Given the description of an element on the screen output the (x, y) to click on. 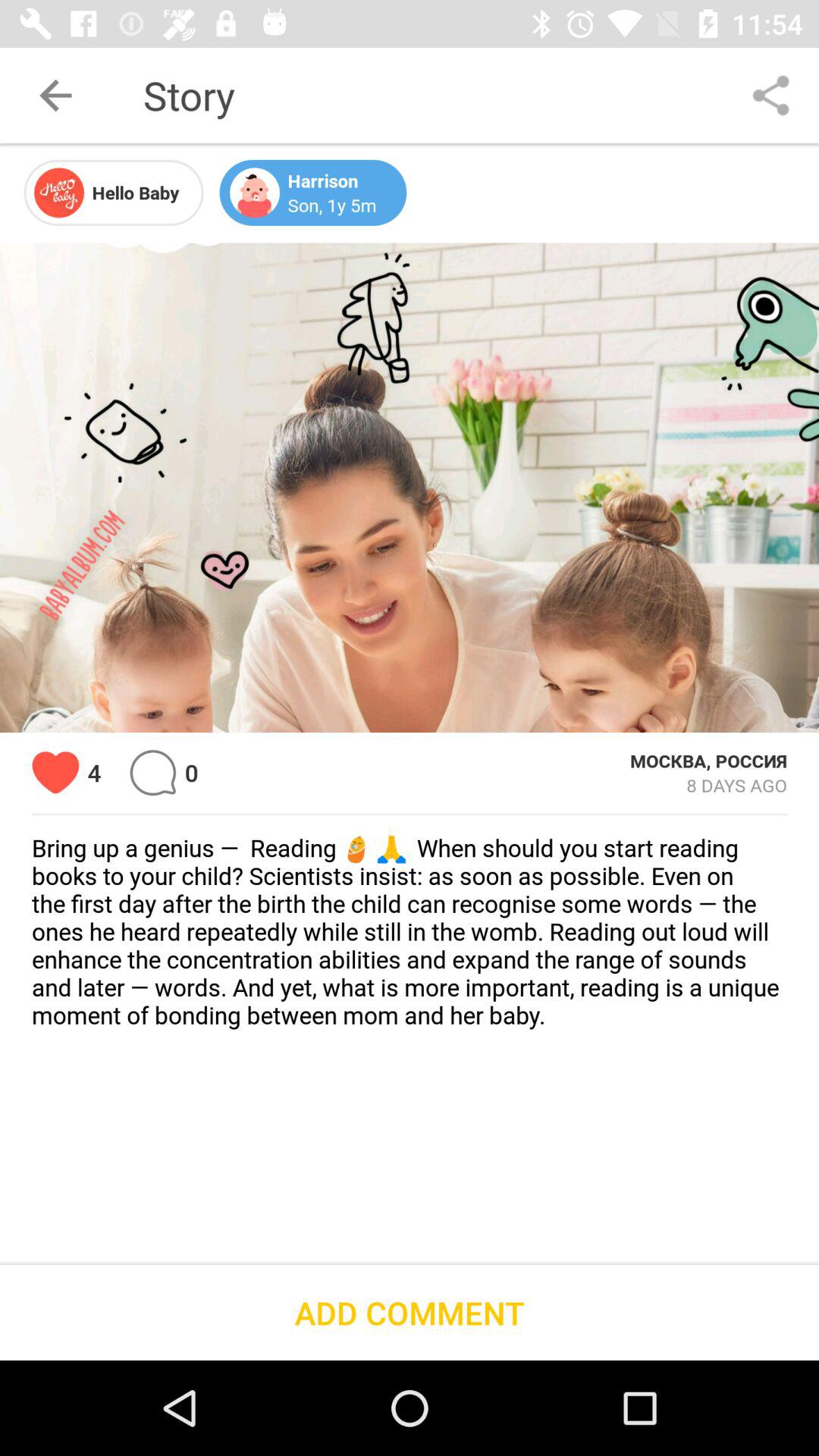
turn on the icon next to story item (55, 95)
